Given the description of an element on the screen output the (x, y) to click on. 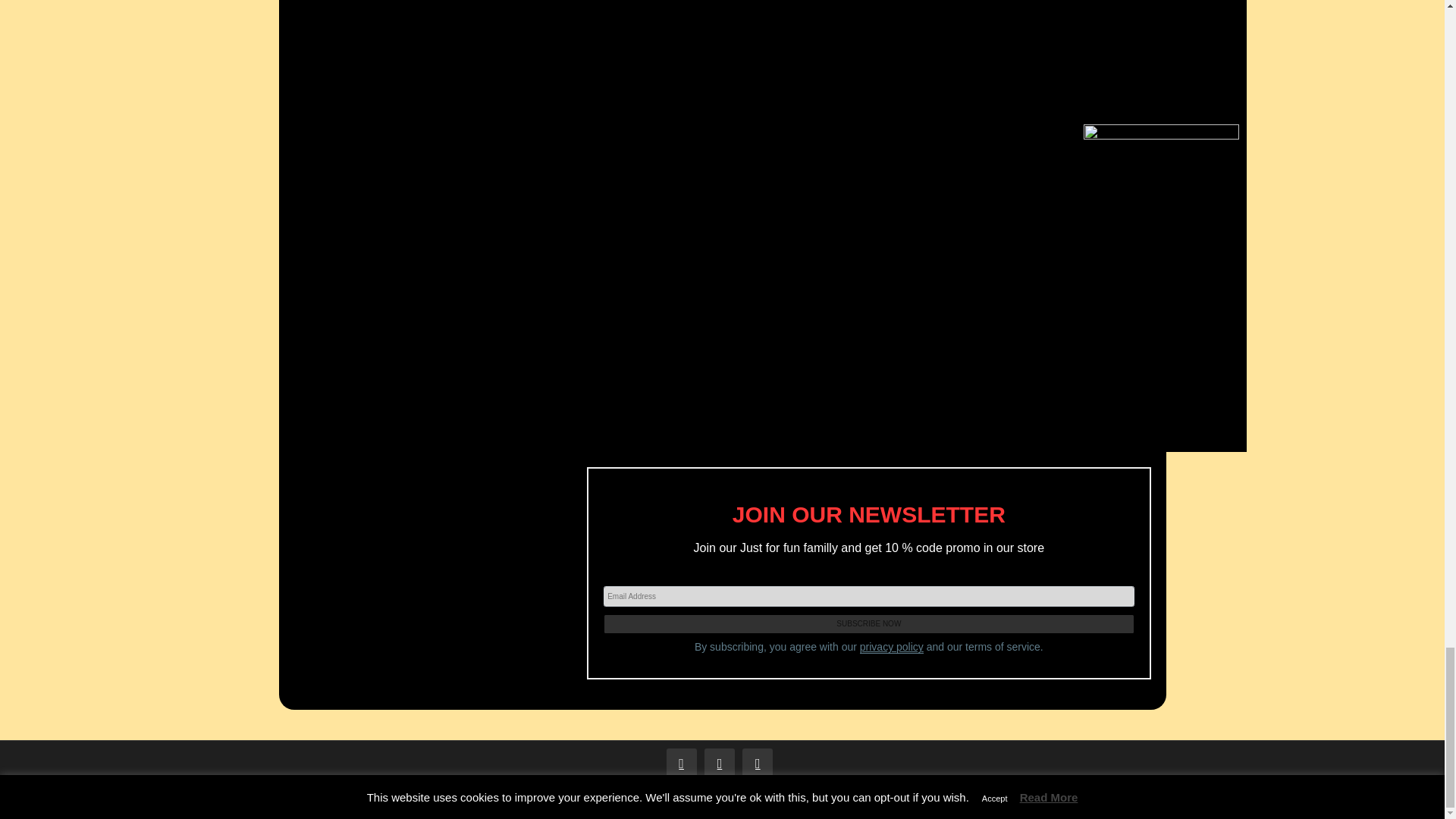
privacy policy (891, 646)
Subscribe Now (869, 623)
Subscribe Now (869, 623)
